Given the description of an element on the screen output the (x, y) to click on. 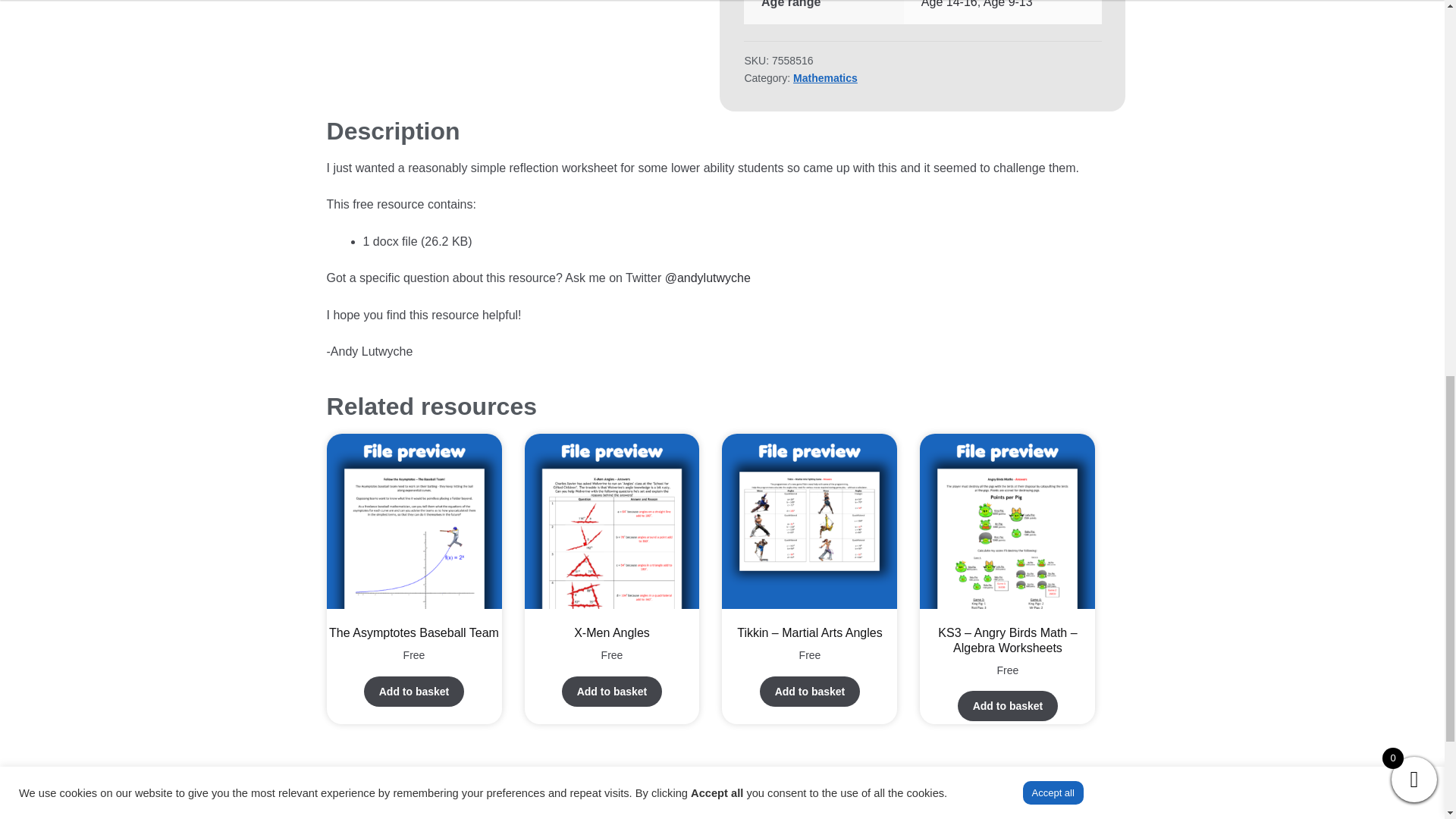
Mathematics (825, 78)
Age 9-13 (1008, 4)
Age 14-16 (948, 4)
Add to basket (612, 691)
Add to basket (810, 691)
Add to basket (414, 691)
Add to basket (1008, 706)
